Given the description of an element on the screen output the (x, y) to click on. 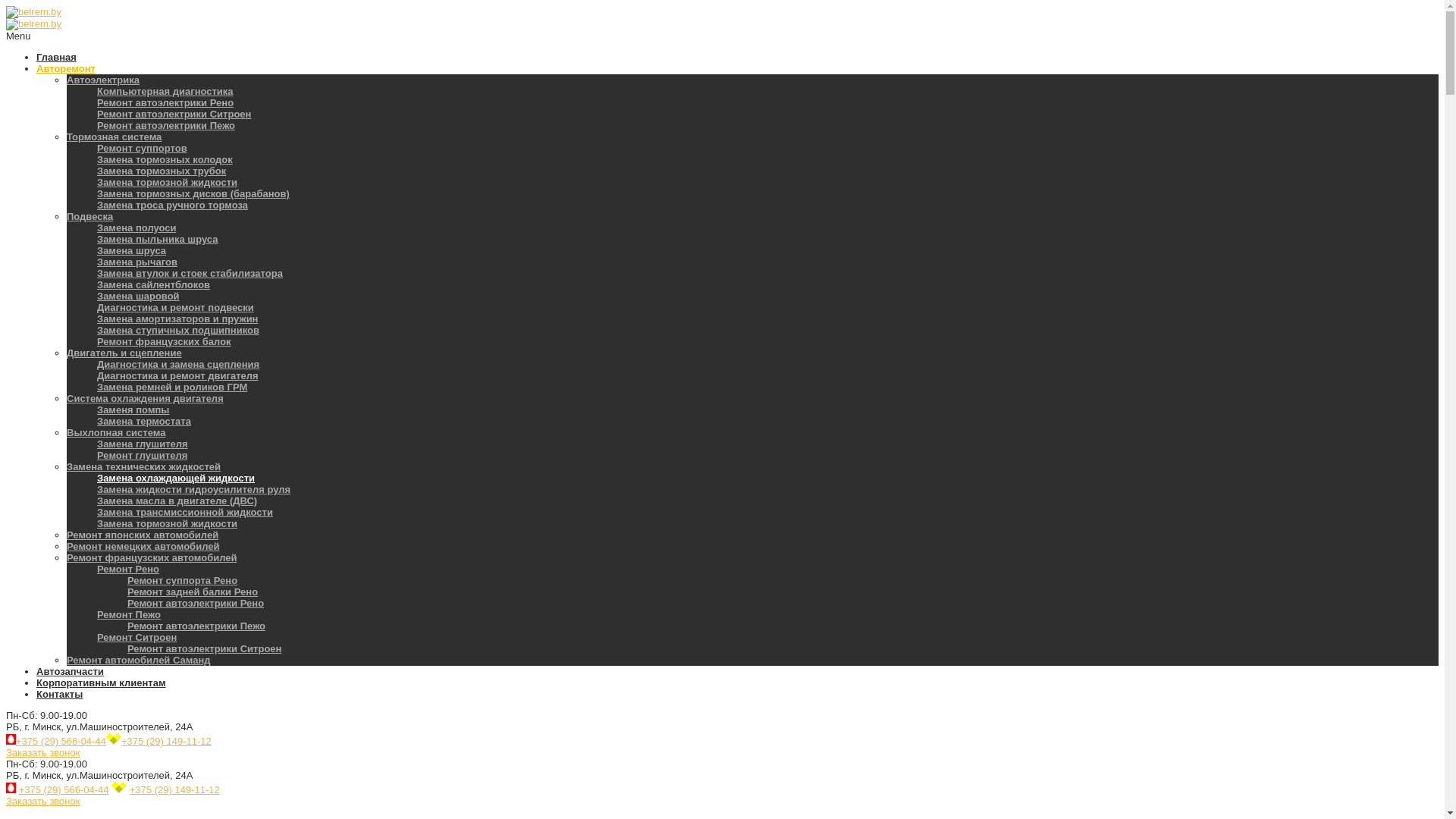
+375 (29) 149-11-12 Element type: text (166, 740)
+375 (29) 566-04-44 Element type: text (60, 740)
+375 (29) 149-11-12 Element type: text (174, 789)
+375 (29) 566-04-44 Element type: text (63, 789)
